Given the description of an element on the screen output the (x, y) to click on. 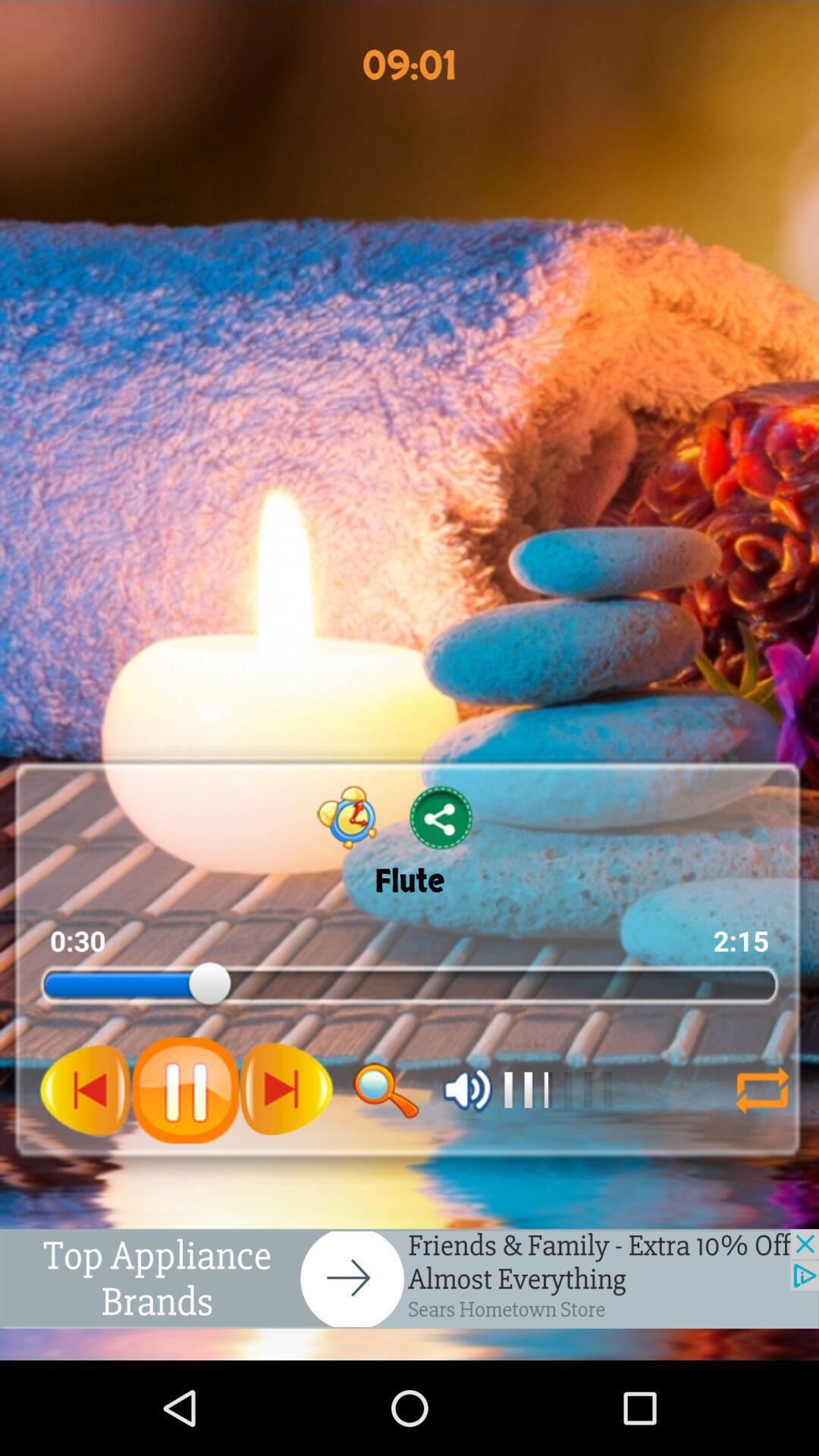
advertisement (409, 1278)
